Given the description of an element on the screen output the (x, y) to click on. 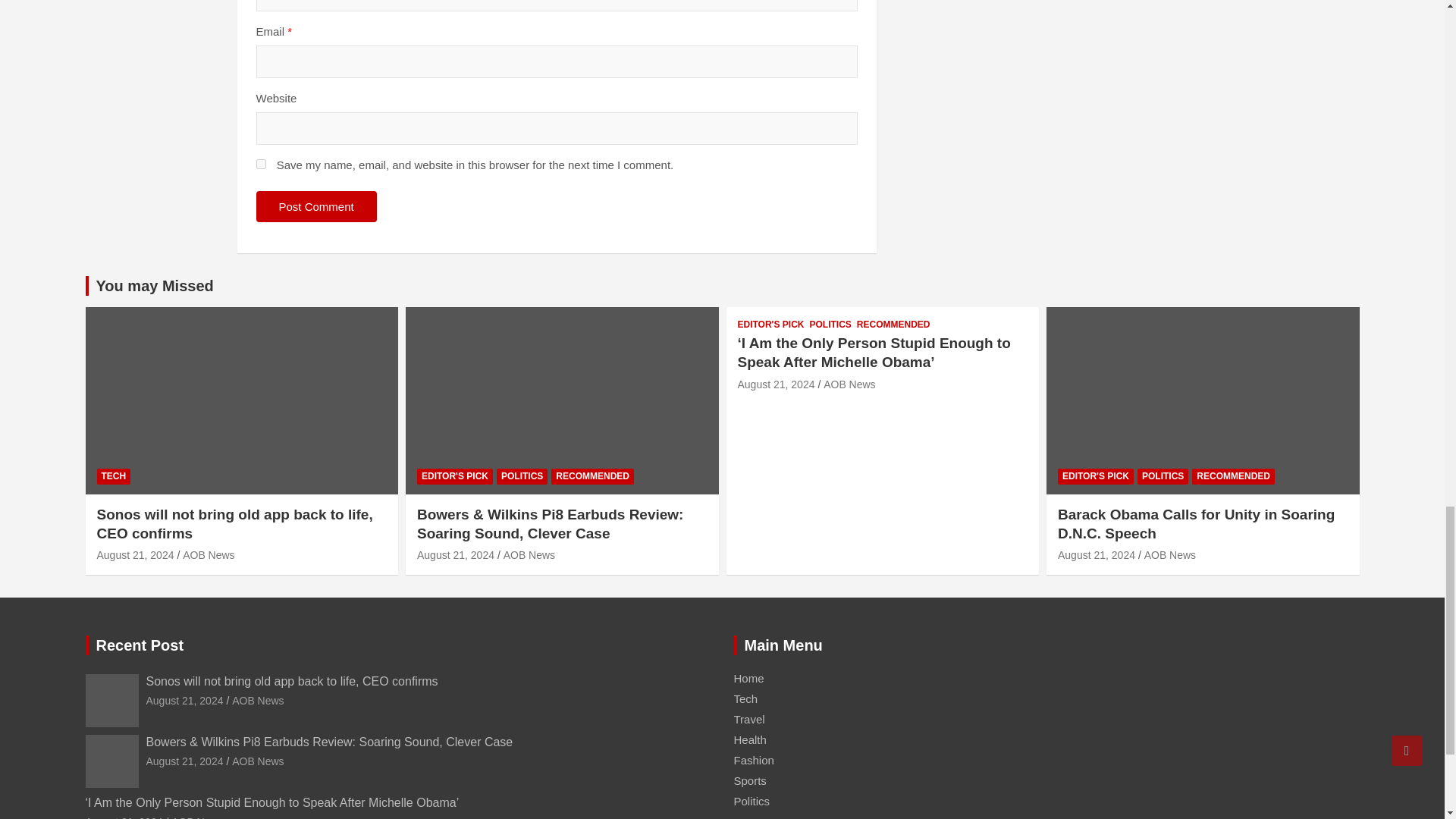
Post Comment (316, 205)
yes (261, 163)
Barack Obama Calls for Unity in Soaring D.N.C. Speech (1096, 554)
Post Comment (316, 205)
Sonos will not bring old app back to life, CEO confirms (135, 554)
